Given the description of an element on the screen output the (x, y) to click on. 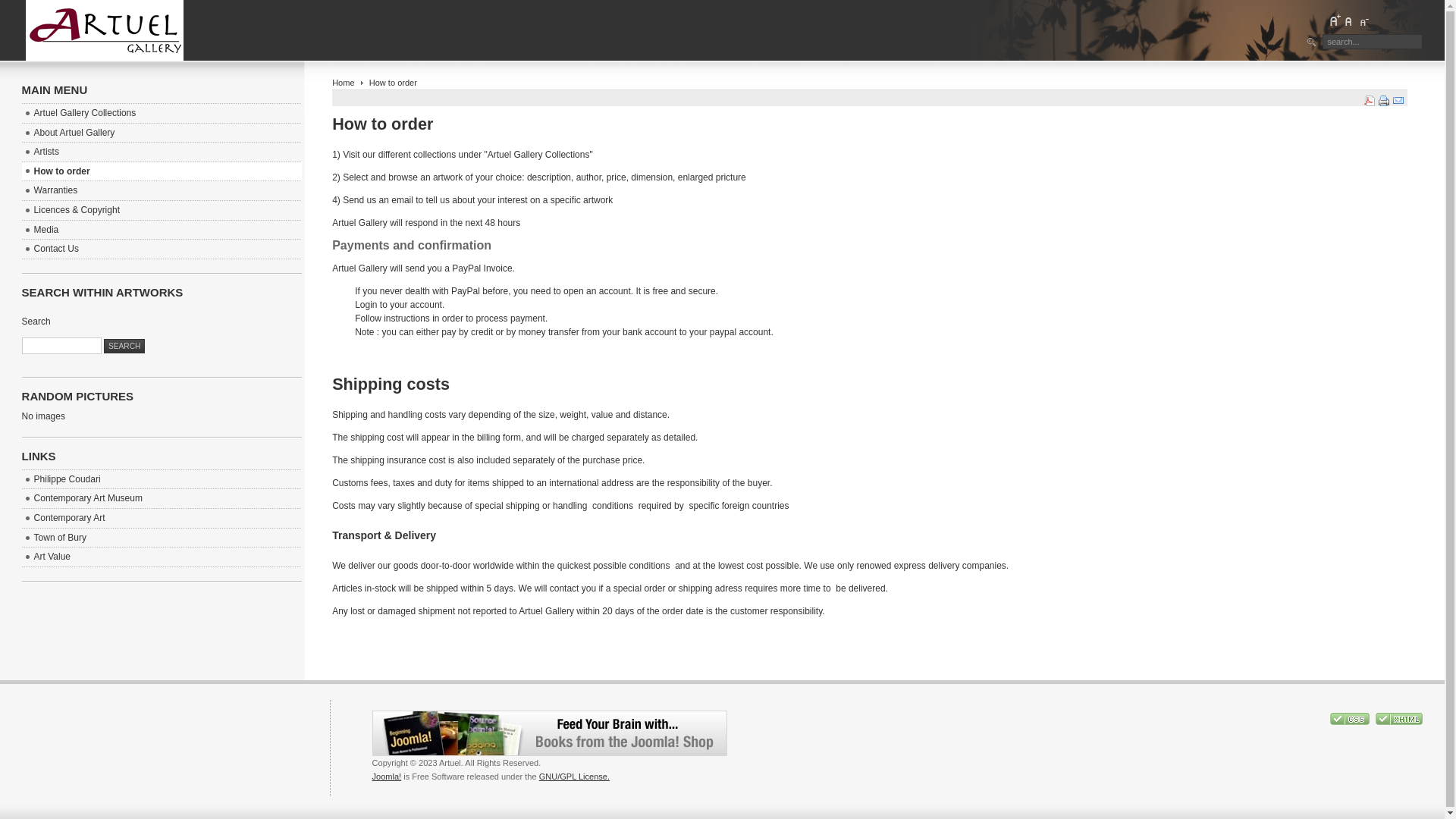
Town of Bury Element type: text (161, 538)
Contemporary Art Element type: text (161, 518)
Joomla! Element type: text (386, 776)
Our site is valid CSS Element type: hover (1350, 721)
Licences & Copyright Element type: text (161, 210)
How to order Element type: text (161, 172)
Artuel Gallery Collections Element type: text (161, 113)
Contemporary Art Museum Element type: text (161, 498)
GNU/GPL License. Element type: text (574, 776)
Philippe Coudari Element type: text (161, 479)
Media Element type: text (161, 230)
Default font size Element type: hover (1349, 20)
Decrease font size Element type: hover (1363, 20)
Increase font size Element type: hover (1334, 20)
Search Element type: hover (61, 345)
About Artuel Gallery Element type: text (161, 133)
Contact Us Element type: text (161, 249)
Search Element type: text (123, 345)
Artists Element type: text (161, 152)
Art Value Element type: text (161, 557)
Warranties Element type: text (161, 190)
Our site is valid XHTML 1.0 Transitional Element type: hover (1398, 721)
Artuel Element type: hover (104, 30)
Home Element type: text (343, 82)
